Given the description of an element on the screen output the (x, y) to click on. 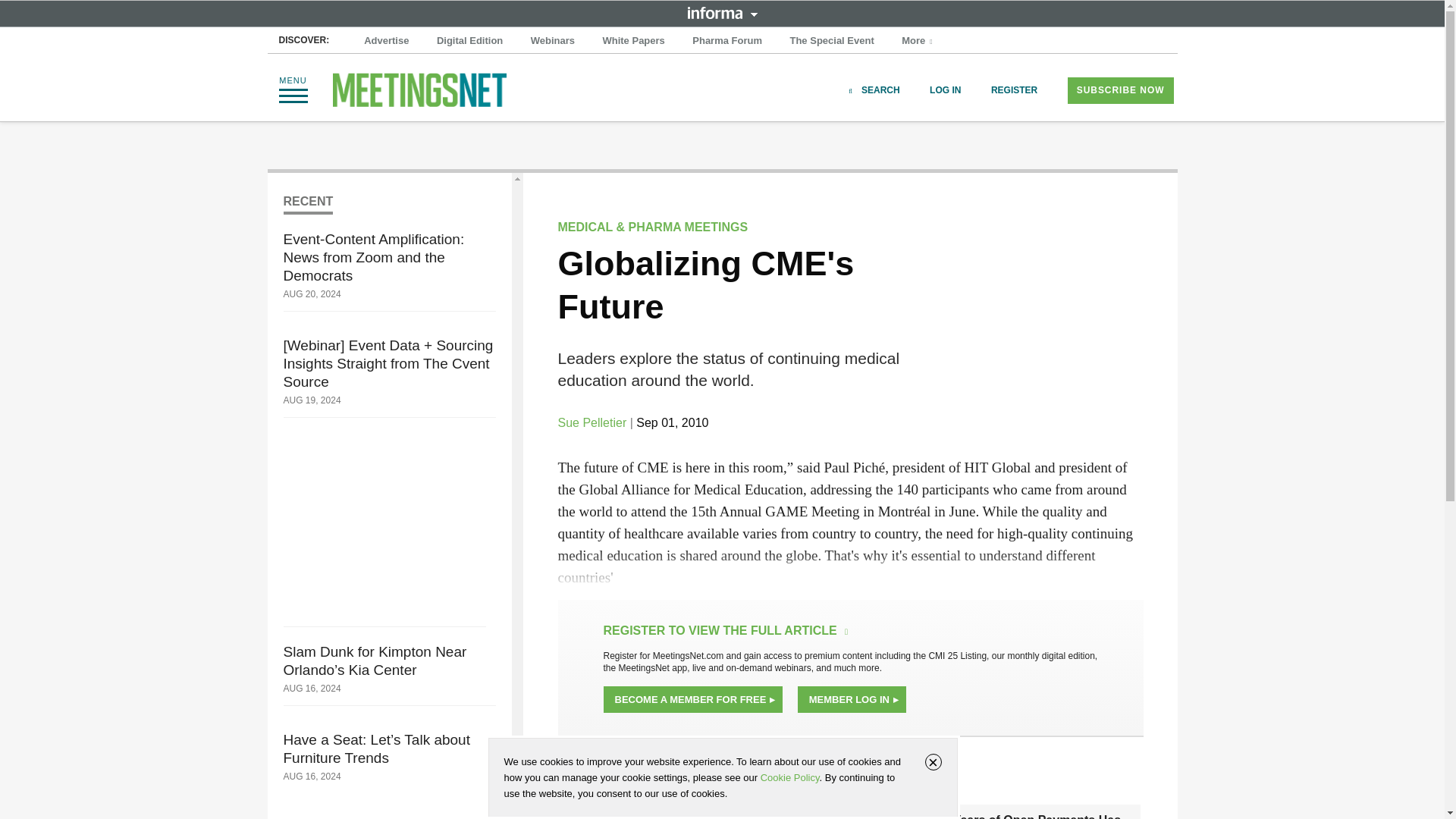
White Papers (632, 41)
Cookie Policy (789, 777)
Digital Edition (469, 41)
INFORMA (722, 12)
Webinars (552, 41)
Pharma Forum (726, 41)
Advertise (386, 41)
More (918, 41)
The Special Event (831, 41)
